Given the description of an element on the screen output the (x, y) to click on. 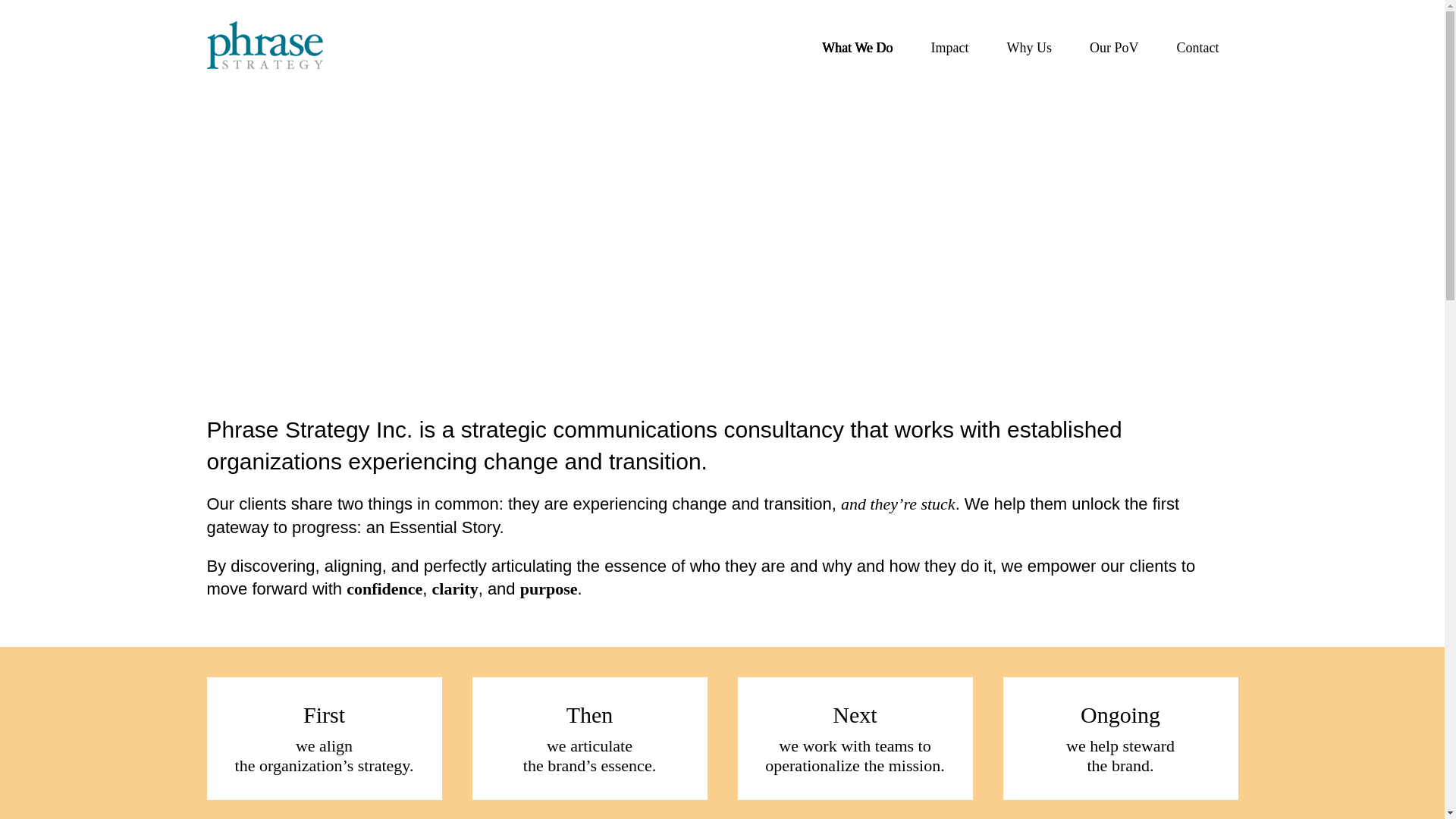
Phrase Strategy (263, 44)
Contact (1198, 47)
Why Us (1028, 47)
What We Do (857, 47)
Our PoV (1113, 47)
Impact (950, 47)
